Given the description of an element on the screen output the (x, y) to click on. 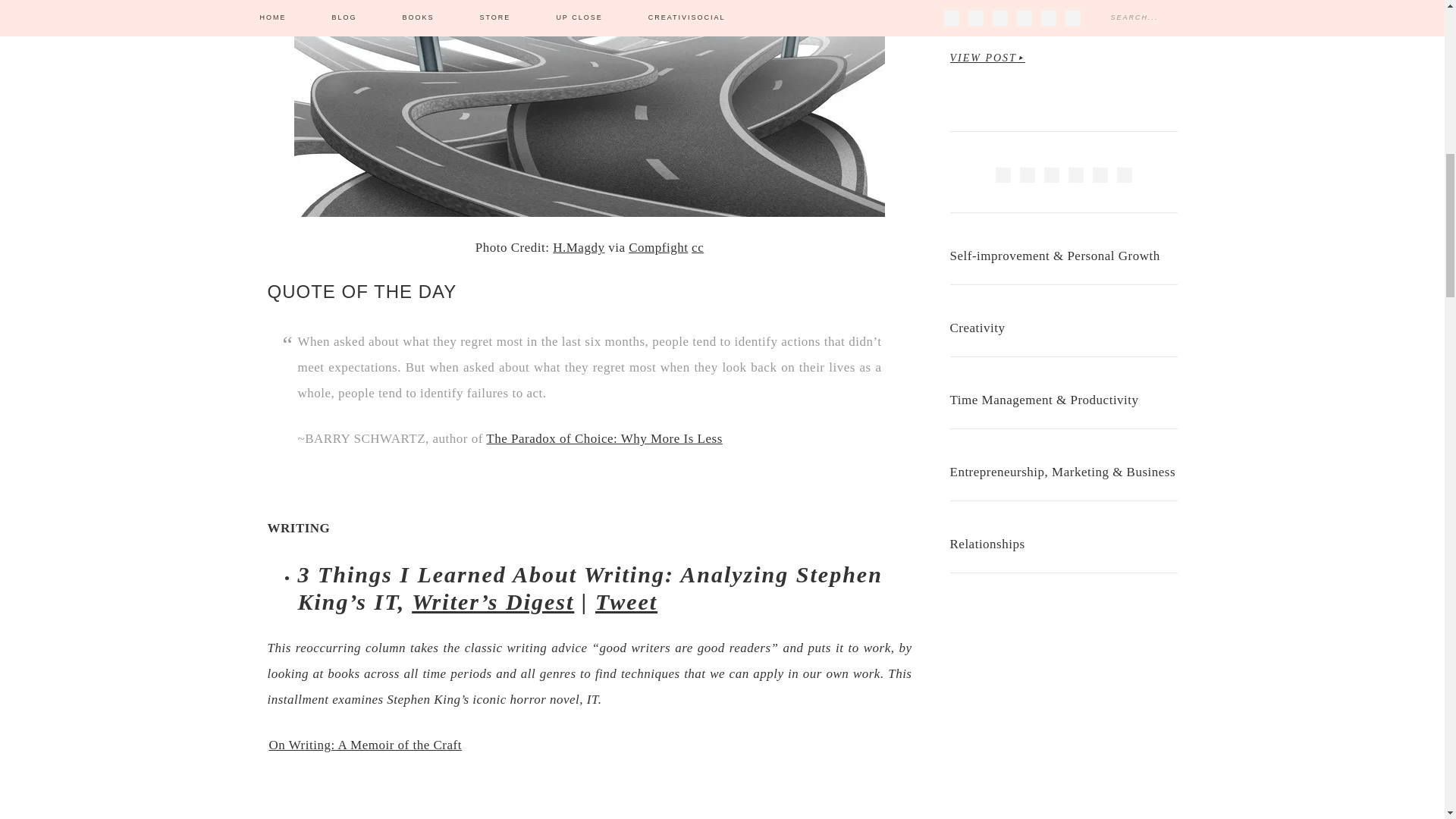
Compfight (657, 247)
The Paradox of Choice: Why More Is Less (604, 438)
Tweet (626, 601)
H.Magdy (578, 247)
cc (697, 247)
On Writing: A Memoir of the Craft (364, 744)
